Given the description of an element on the screen output the (x, y) to click on. 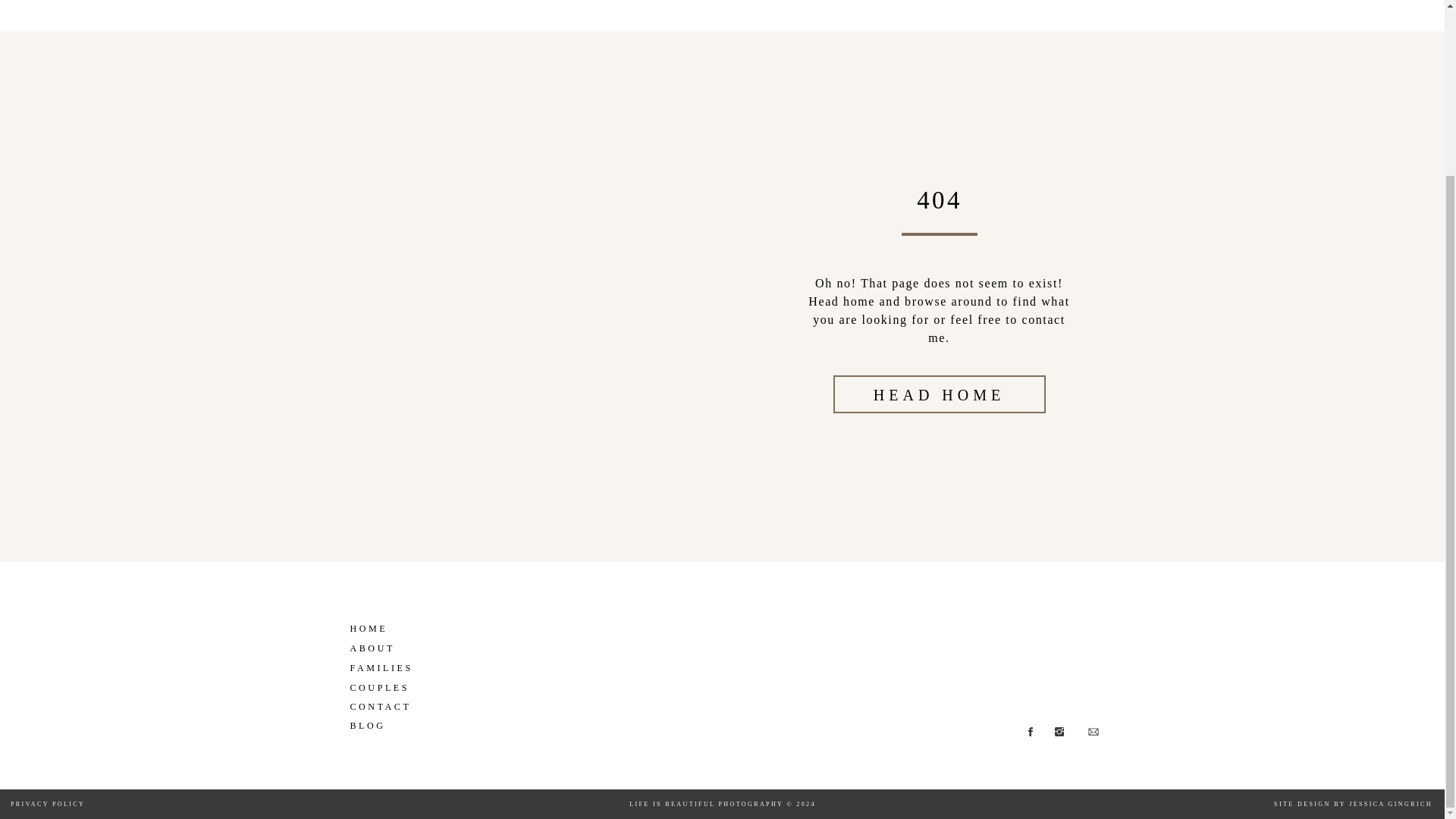
HEAD HOME (938, 394)
ABOUT (389, 646)
SITE DESIGN BY JESSICA GINGRICH (1352, 807)
BLOG (382, 724)
CONTACT (382, 705)
PRIVACY POLICY (125, 807)
COUPLES (382, 685)
HOME (382, 627)
FAMILIES (382, 665)
